Given the description of an element on the screen output the (x, y) to click on. 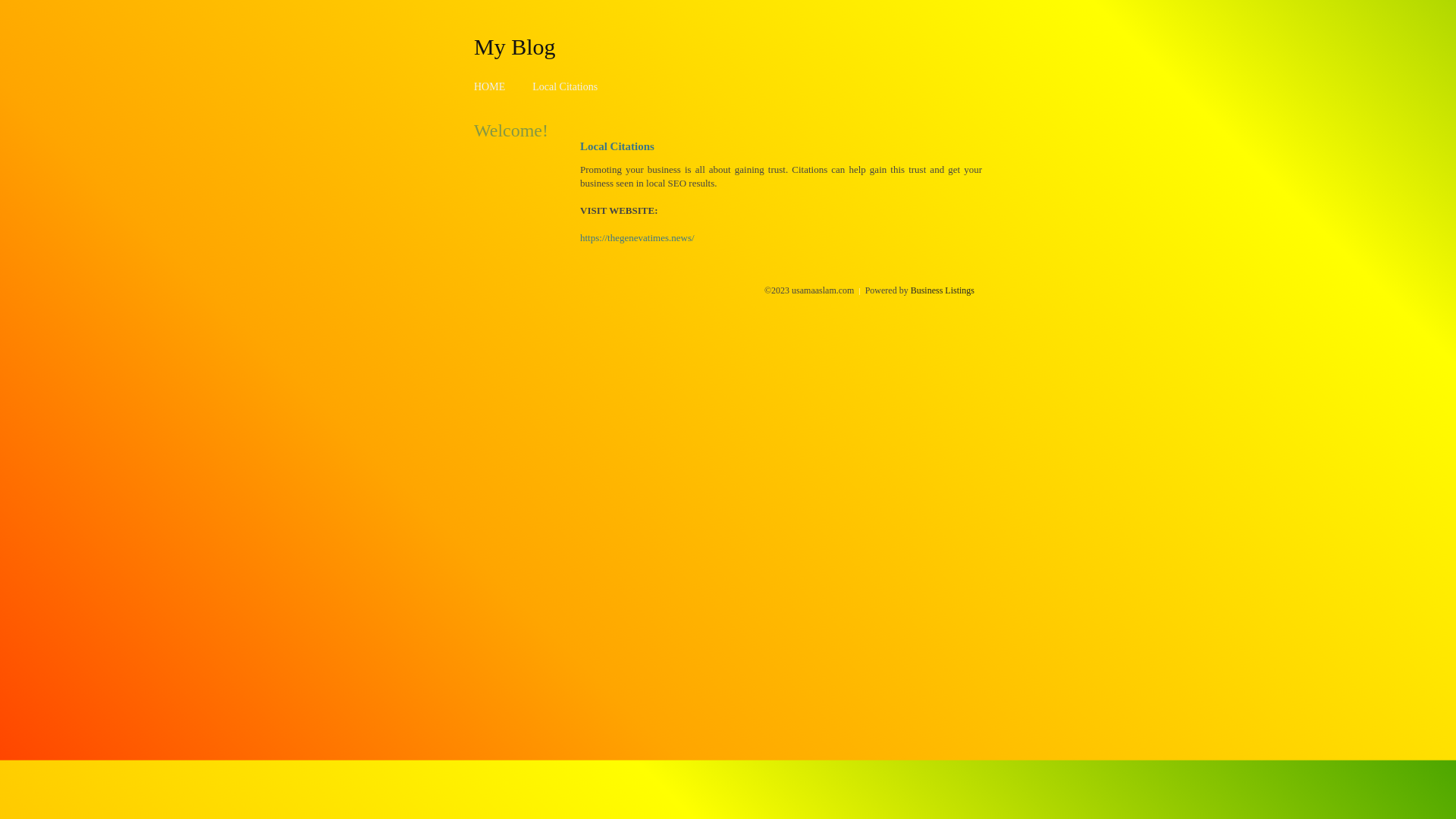
HOME Element type: text (489, 86)
Business Listings Element type: text (942, 290)
My Blog Element type: text (514, 46)
https://thegenevatimes.news/ Element type: text (637, 237)
Local Citations Element type: text (564, 86)
